Given the description of an element on the screen output the (x, y) to click on. 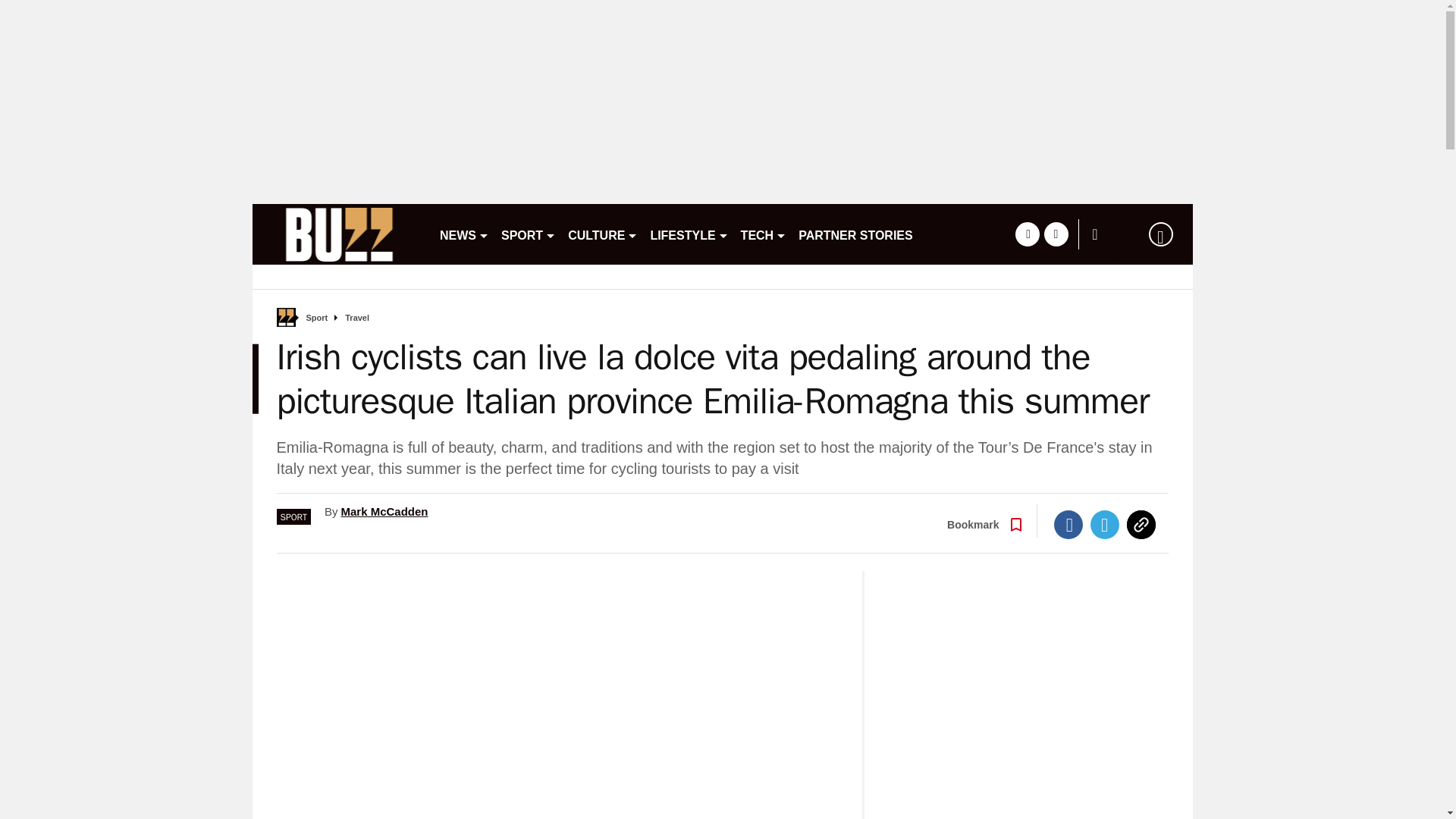
buzz (338, 233)
Facebook (1068, 524)
NEWS (464, 233)
TECH (764, 233)
Twitter (1104, 524)
PARTNER STORIES (855, 233)
SPORT (528, 233)
twitter (1055, 233)
LIFESTYLE (688, 233)
CULTURE (602, 233)
facebook (1026, 233)
